Given the description of an element on the screen output the (x, y) to click on. 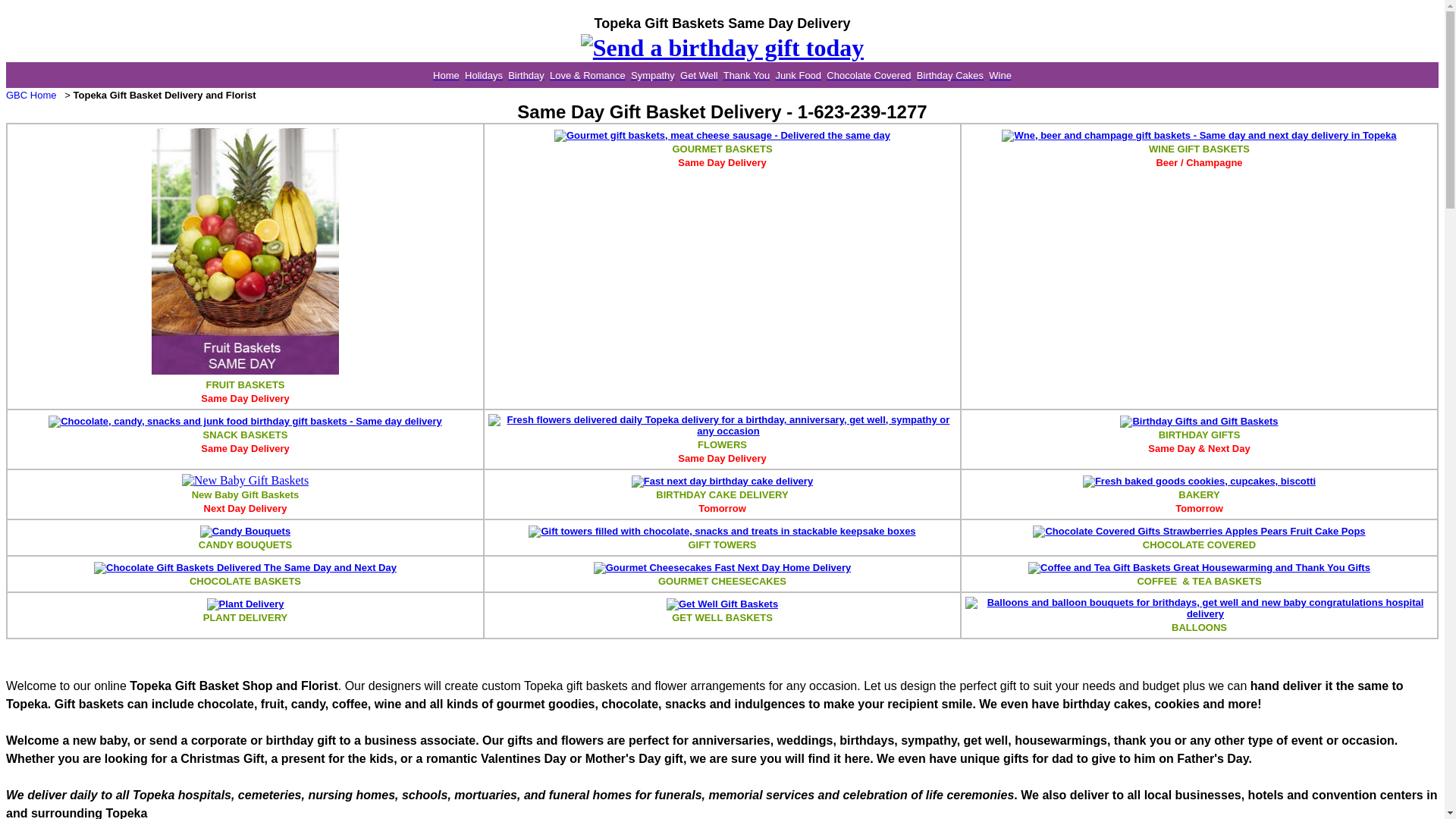
Chocolate Covered (869, 75)
Home (446, 75)
GBC Home (30, 93)
Sympathy (652, 75)
Wine (999, 75)
Birthday Cakes (950, 75)
Thank You (746, 75)
Holidays (483, 75)
Birthday (526, 75)
Junk Food (797, 74)
